Given the description of an element on the screen output the (x, y) to click on. 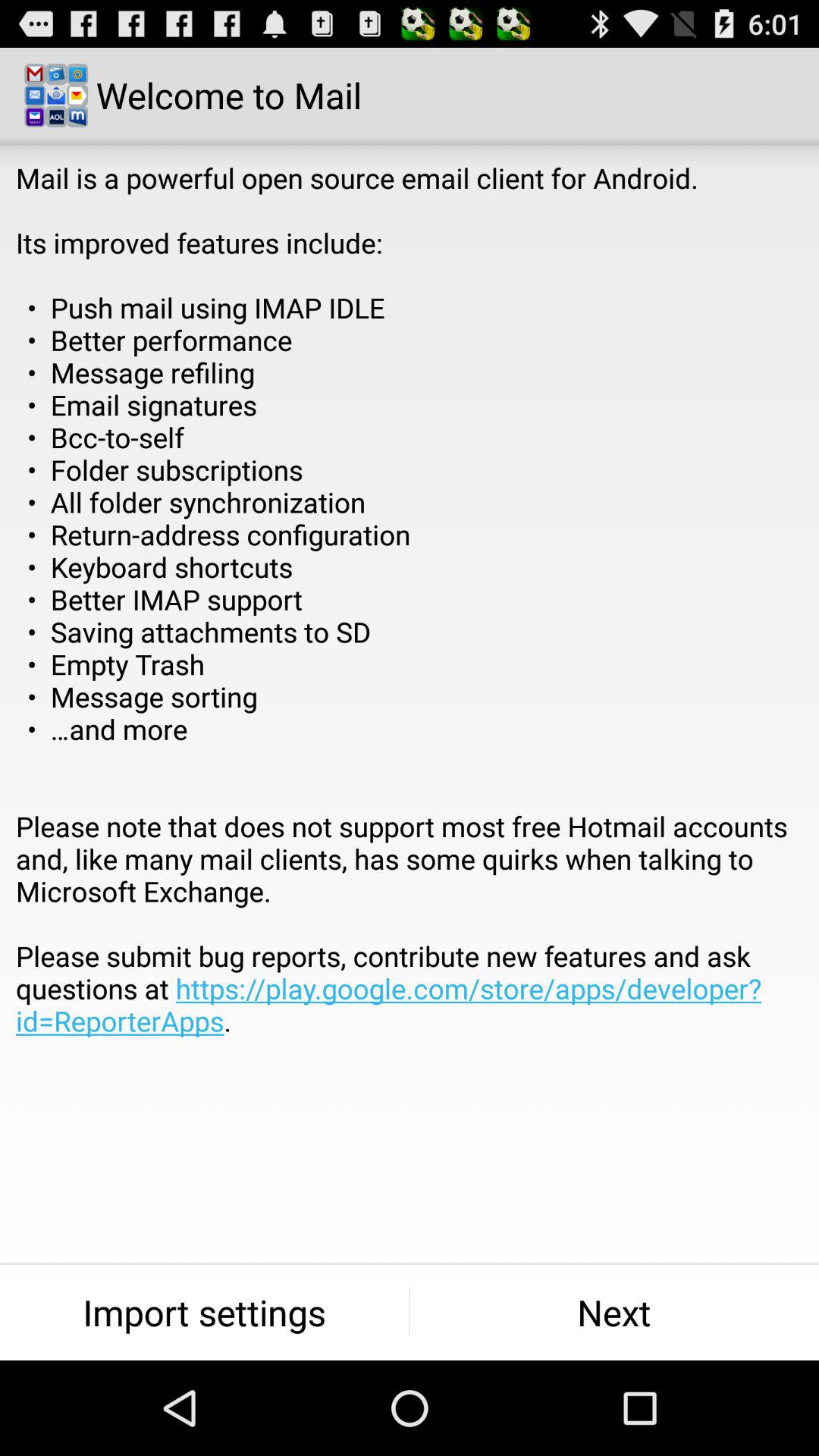
flip to import settings item (204, 1312)
